Given the description of an element on the screen output the (x, y) to click on. 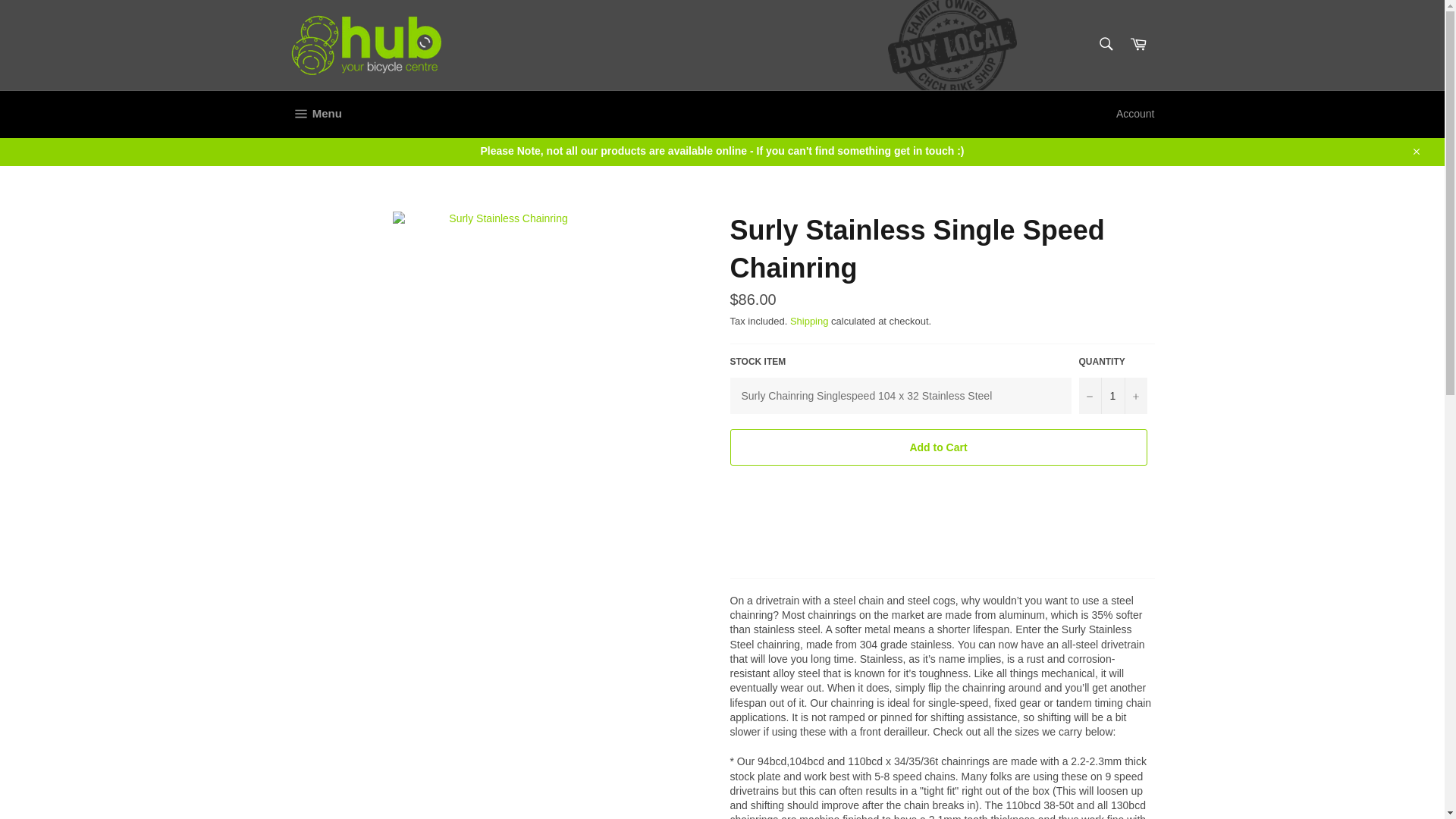
1 (1112, 395)
